Given the description of an element on the screen output the (x, y) to click on. 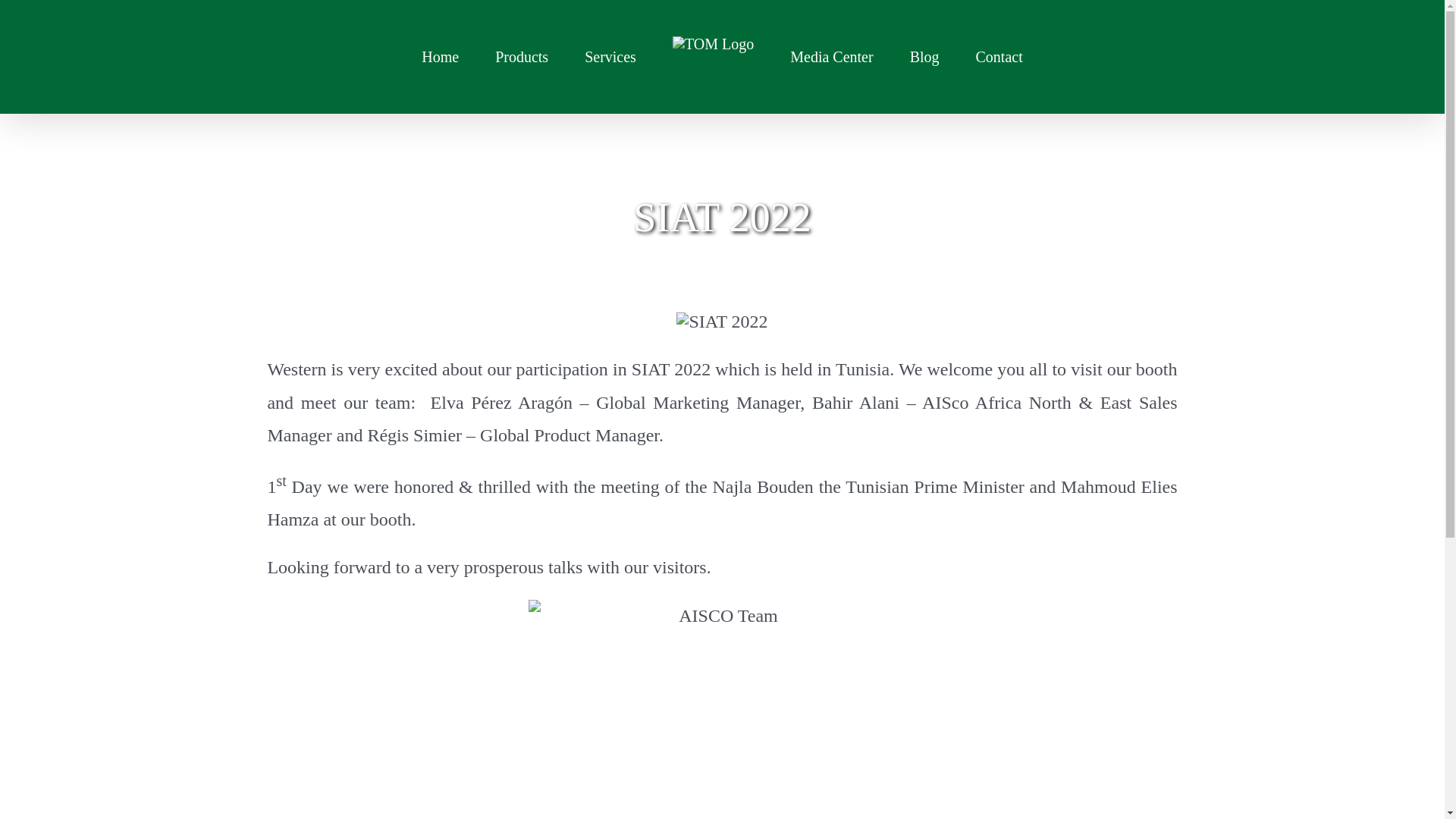
3 (722, 321)
